Given the description of an element on the screen output the (x, y) to click on. 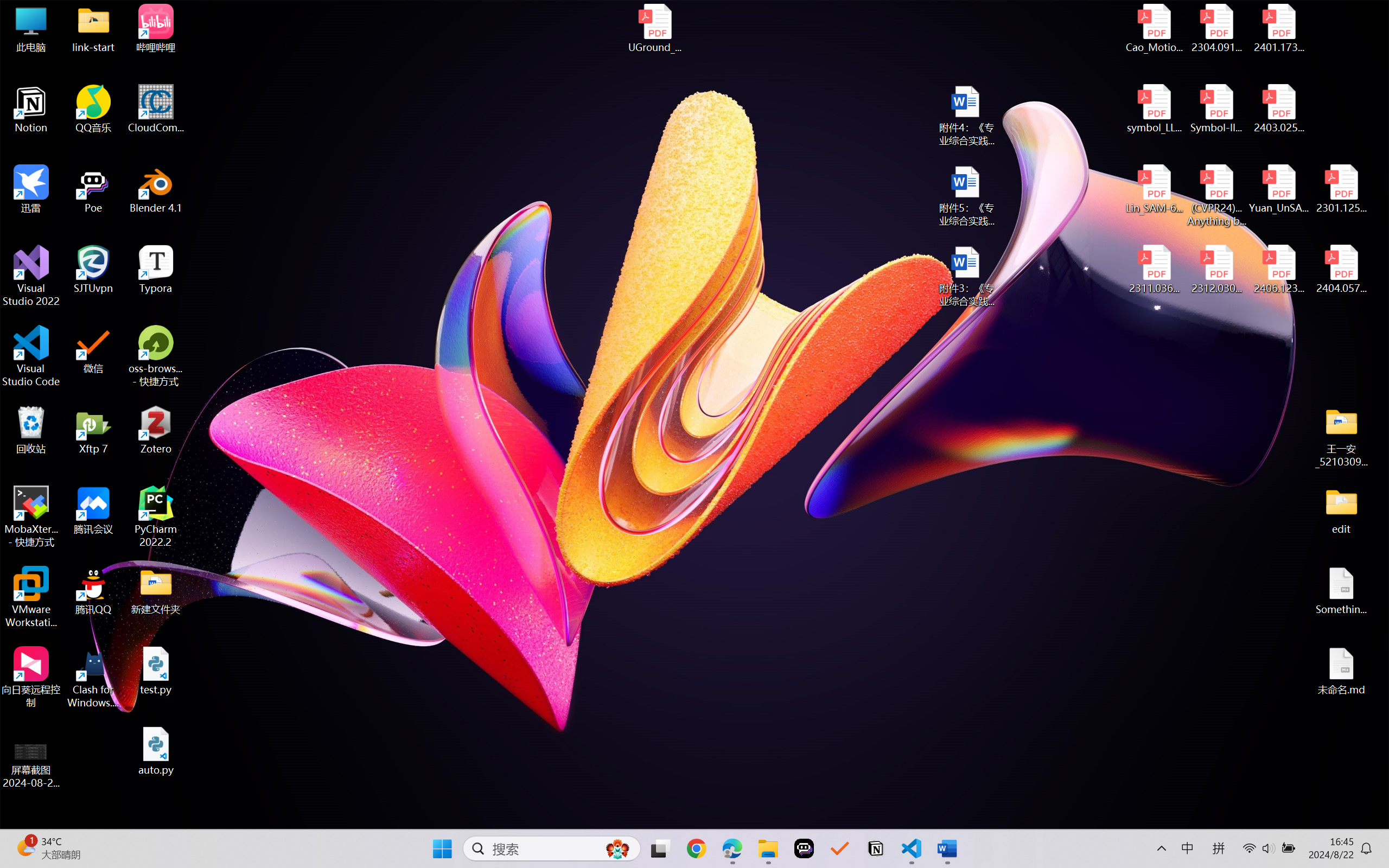
2404.05719v1.pdf (1340, 269)
Xftp 7 (93, 430)
